Given the description of an element on the screen output the (x, y) to click on. 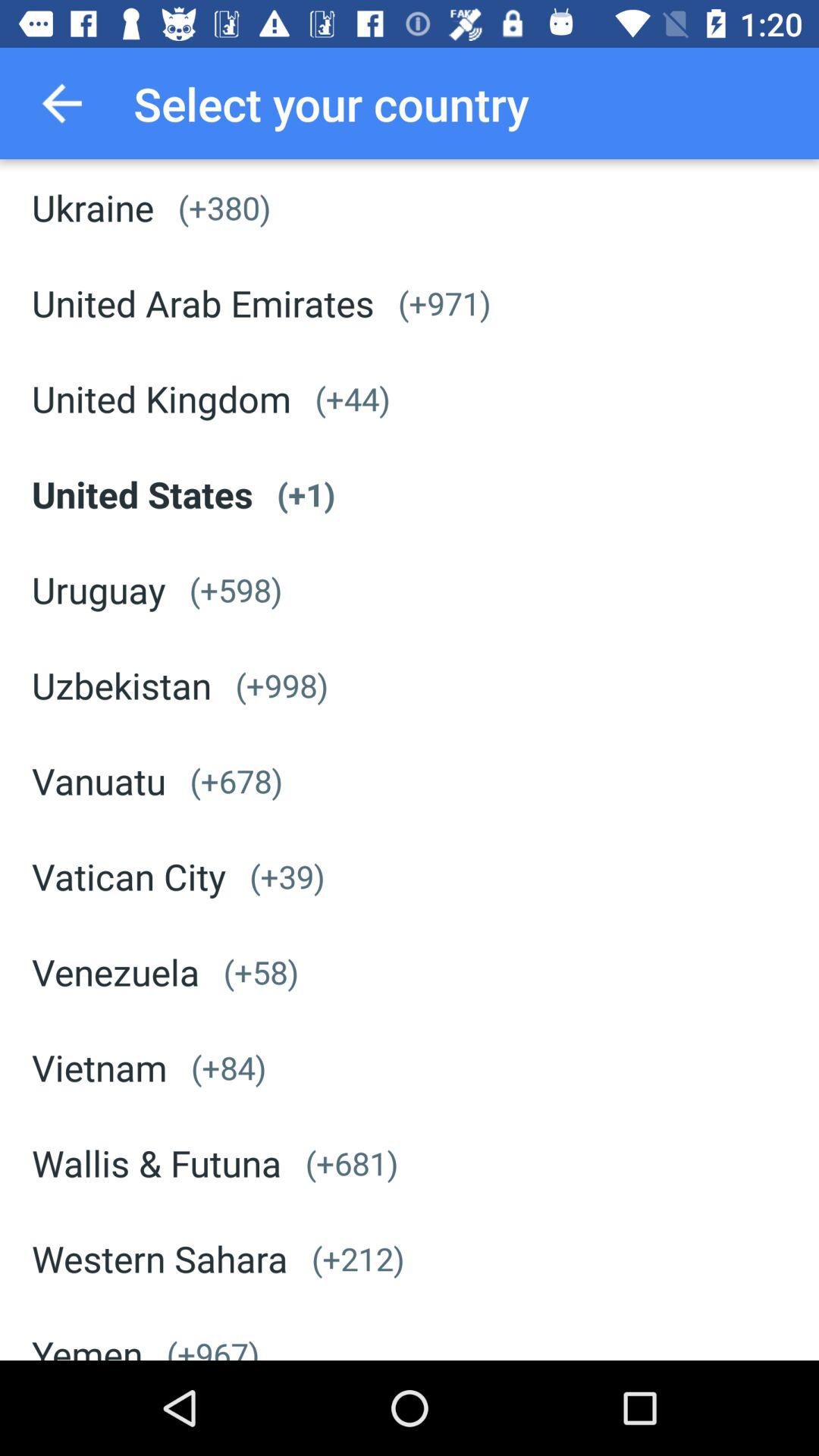
open the uzbekistan item (121, 684)
